Given the description of an element on the screen output the (x, y) to click on. 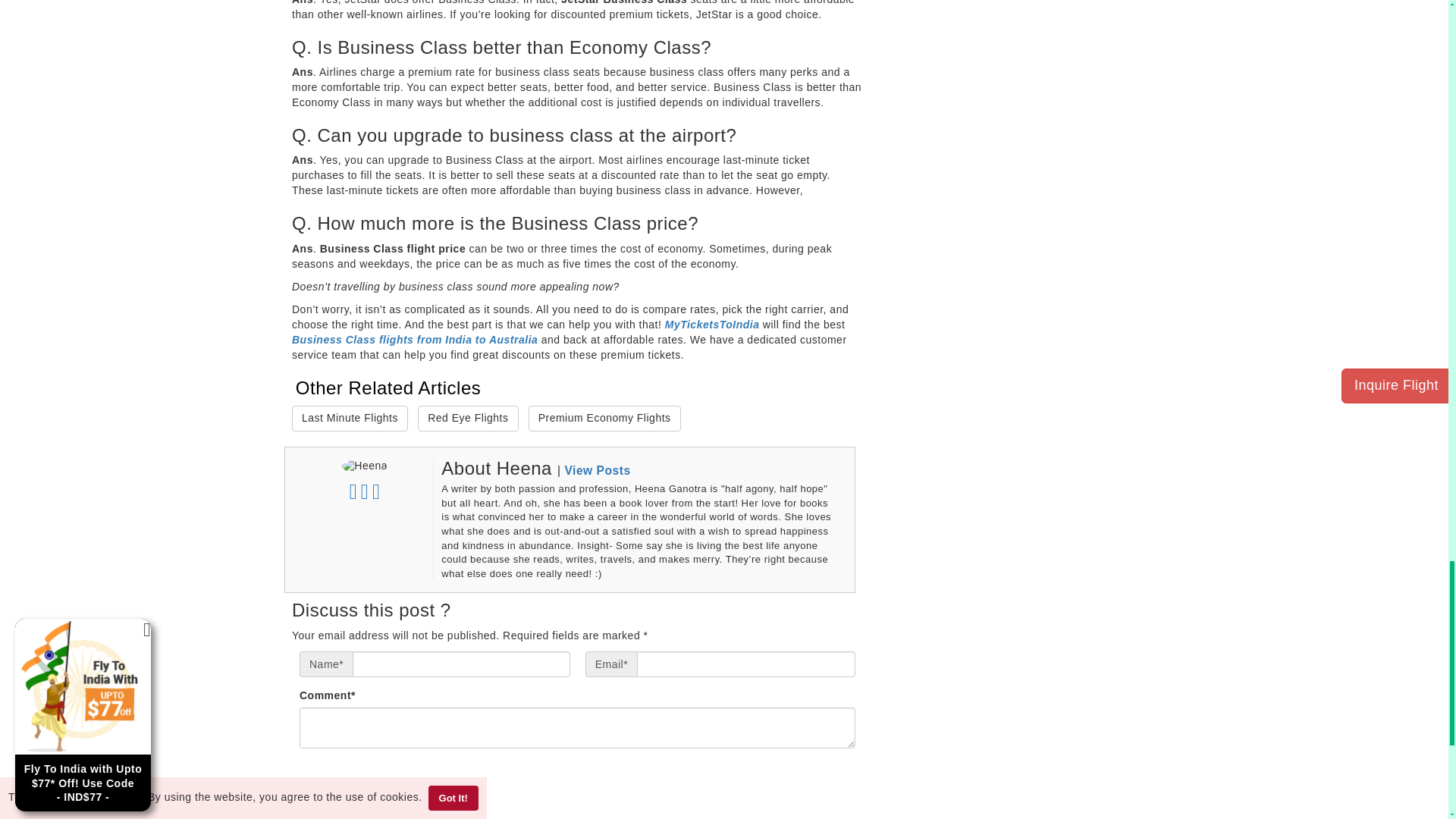
facebook (355, 494)
Post Comment (818, 772)
